Given the description of an element on the screen output the (x, y) to click on. 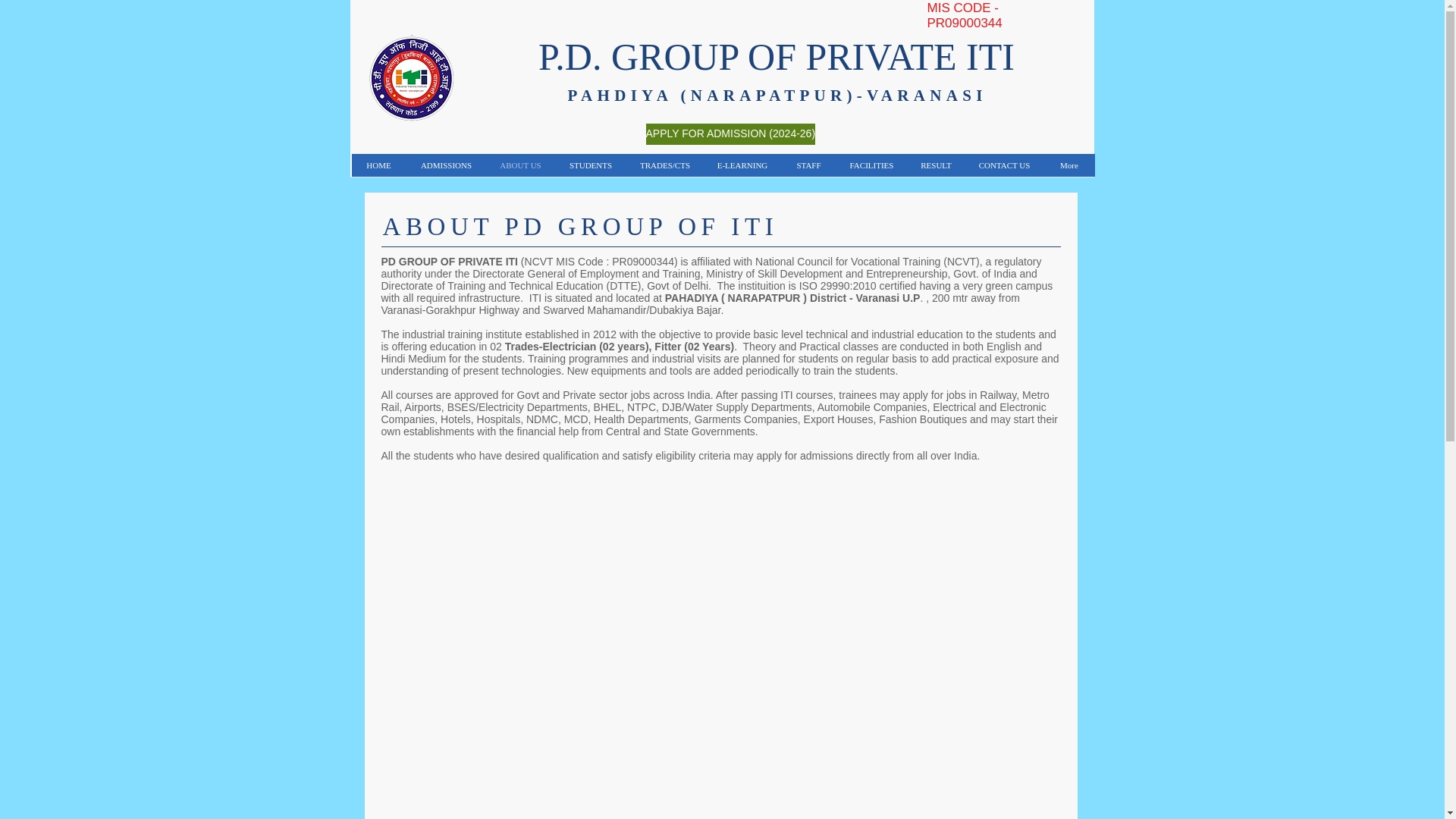
ABOUT US (519, 164)
FACILITIES (870, 164)
STUDENTS (590, 164)
RESULT (936, 164)
STAFF (807, 164)
CONTACT US (1002, 164)
HOME (379, 164)
ADMISSIONS (446, 164)
